Given the description of an element on the screen output the (x, y) to click on. 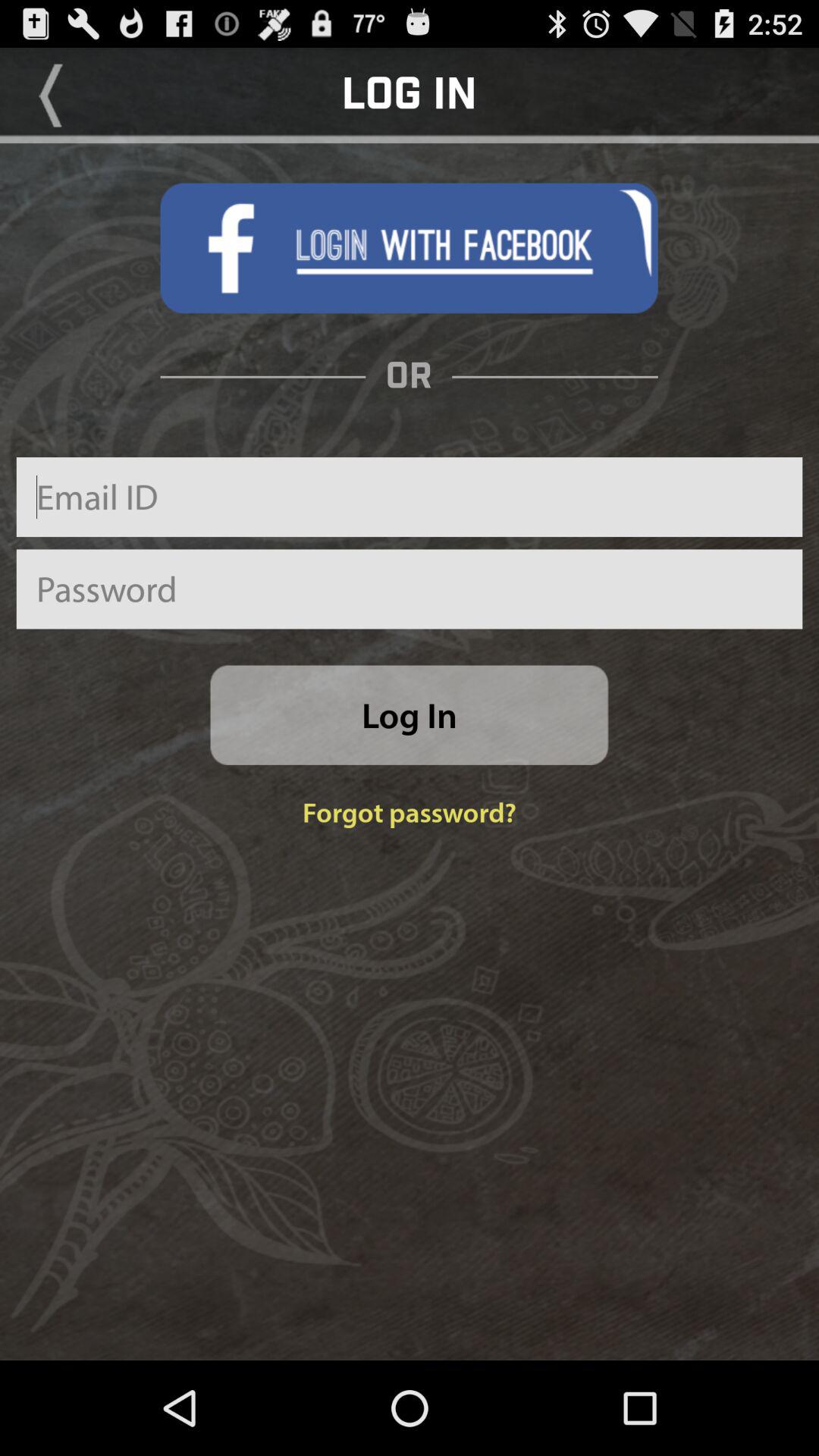
login using facebook (409, 248)
